Given the description of an element on the screen output the (x, y) to click on. 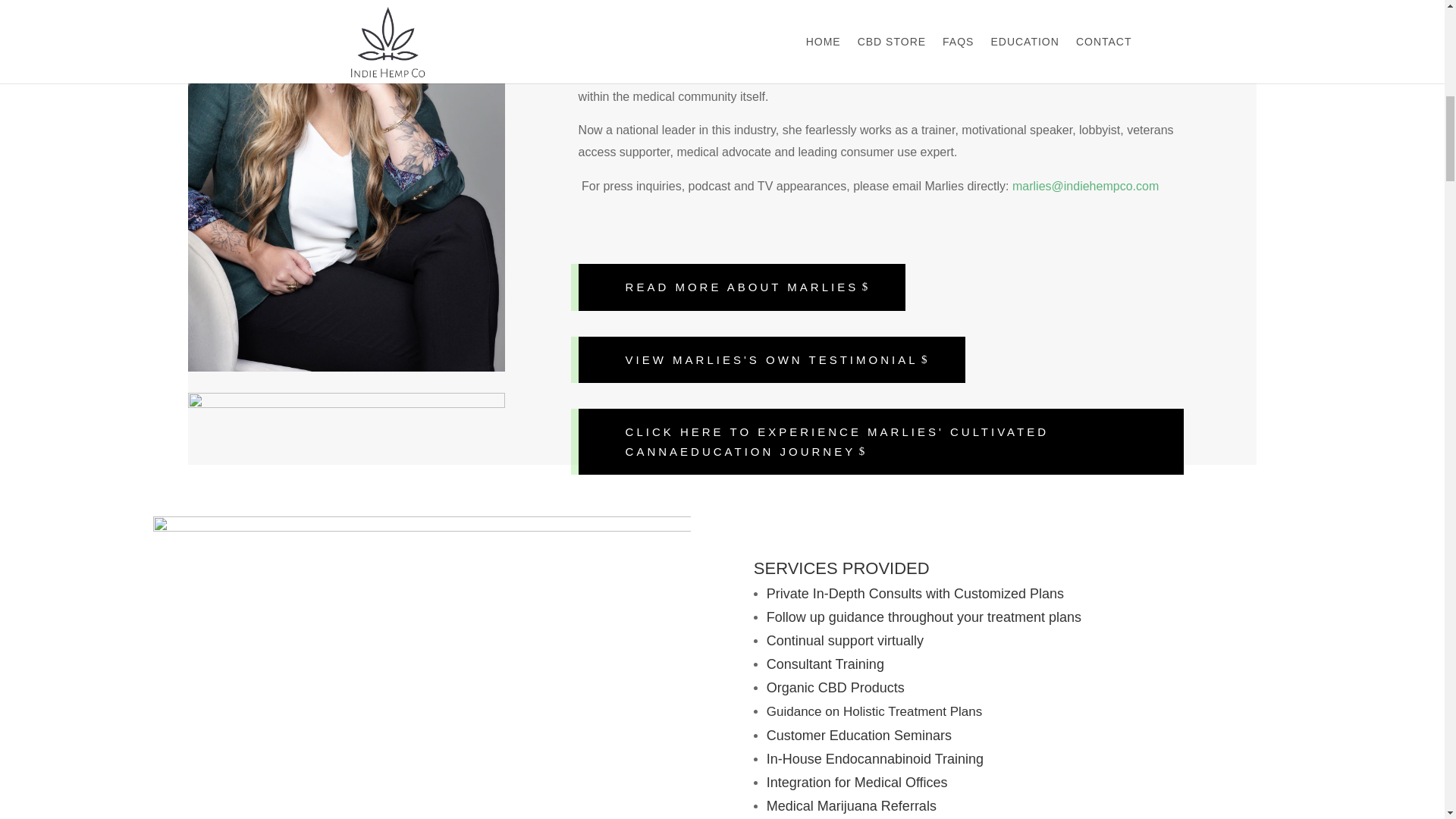
READ MORE ABOUT MARLIES (741, 287)
VIEW MARLIES'S OWN TESTIMONIAL (771, 360)
